Given the description of an element on the screen output the (x, y) to click on. 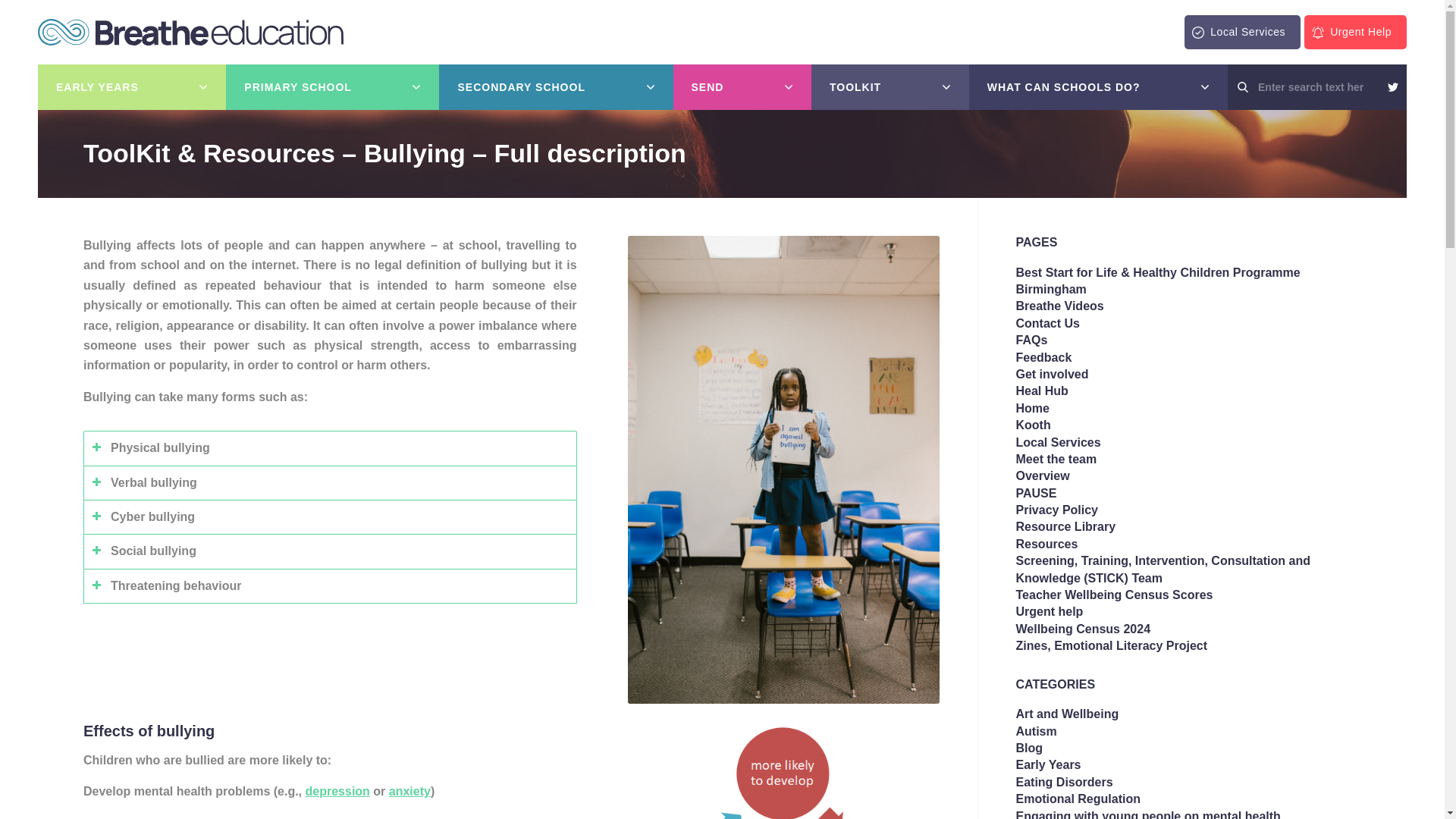
TOOLKIT (889, 86)
Urgent Help (1355, 32)
bullying cycle (783, 770)
PRIMARY SCHOOL (332, 86)
EARLY YEARS (131, 86)
SECONDARY SCHOOL (555, 86)
SEND (741, 86)
Local Services (1242, 32)
